Given the description of an element on the screen output the (x, y) to click on. 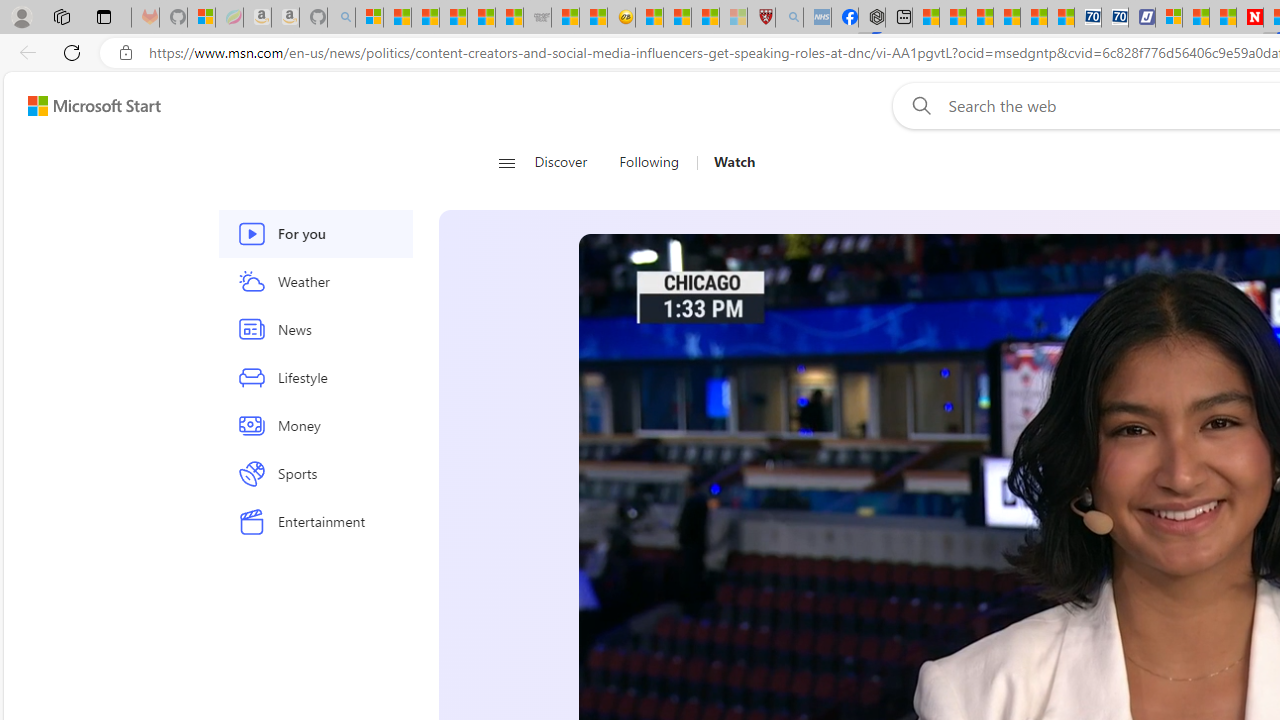
Combat Siege (537, 17)
Watch (734, 162)
